Given the description of an element on the screen output the (x, y) to click on. 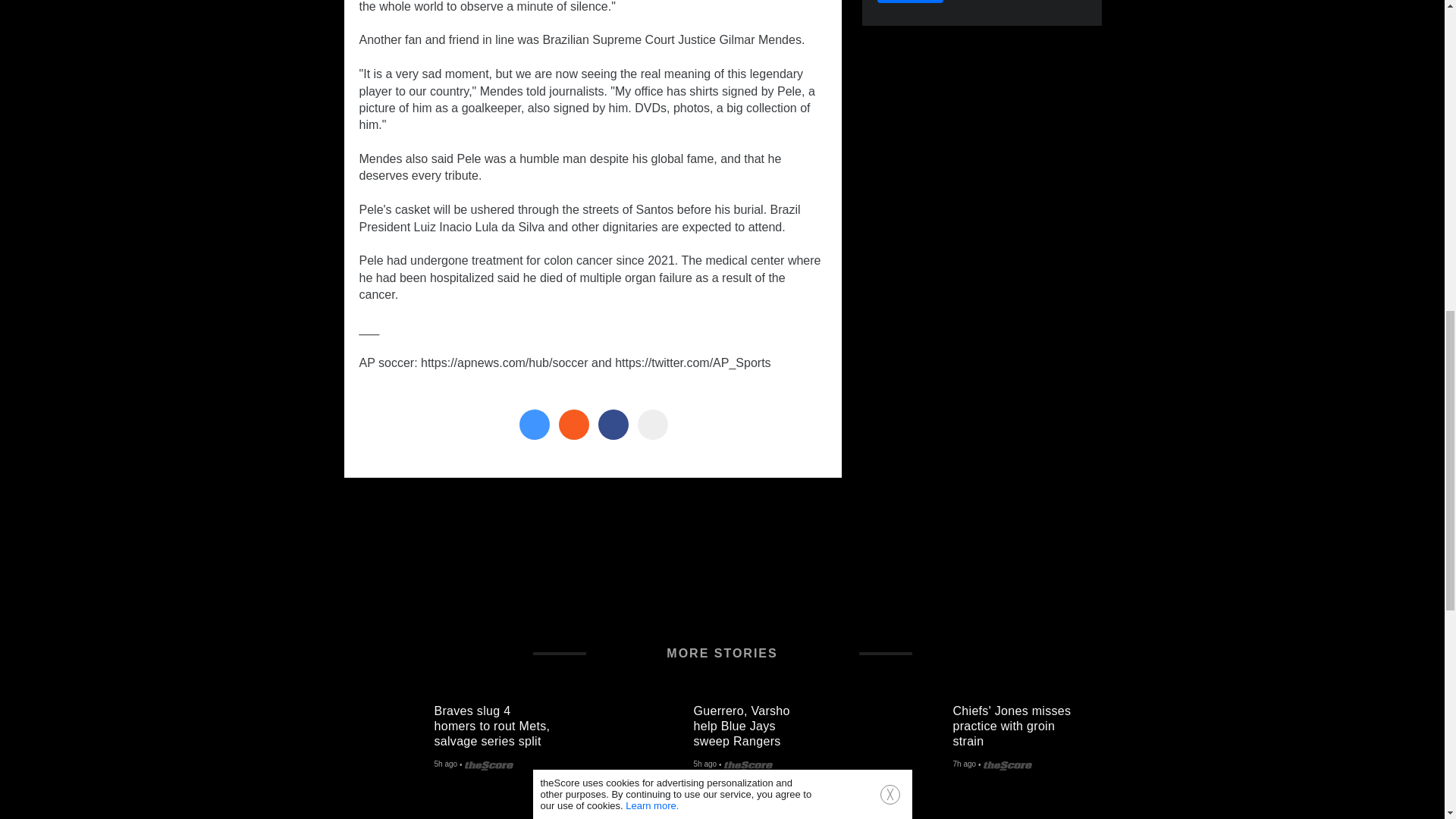
Facebook (611, 424)
2024-07-28T19:17:01.000Z (963, 765)
2024-07-28T21:19:05.000Z (445, 765)
Subscribe (909, 1)
Rays trade Paredes to Cubs for Morel, 2 prospects (388, 816)
Reddit (572, 424)
Rays trade Jason Adam to Padres in 4-player deal (647, 816)
Guerrero, Varsho help Blue Jays sweep Rangers (647, 738)
Email (651, 424)
Twitter (533, 424)
Rays trade Paredes to Cubs for Morel, 2 prospects (500, 815)
Braves slug 4 homers to rout Mets, salvage series split (500, 722)
Chiefs' Jones misses practice with groin strain (1018, 722)
Rays trade Jason Adam to Padres in 4-player deal (759, 815)
Durant provides spark in return to lead U.S. past Serbia (1018, 815)
